Given the description of an element on the screen output the (x, y) to click on. 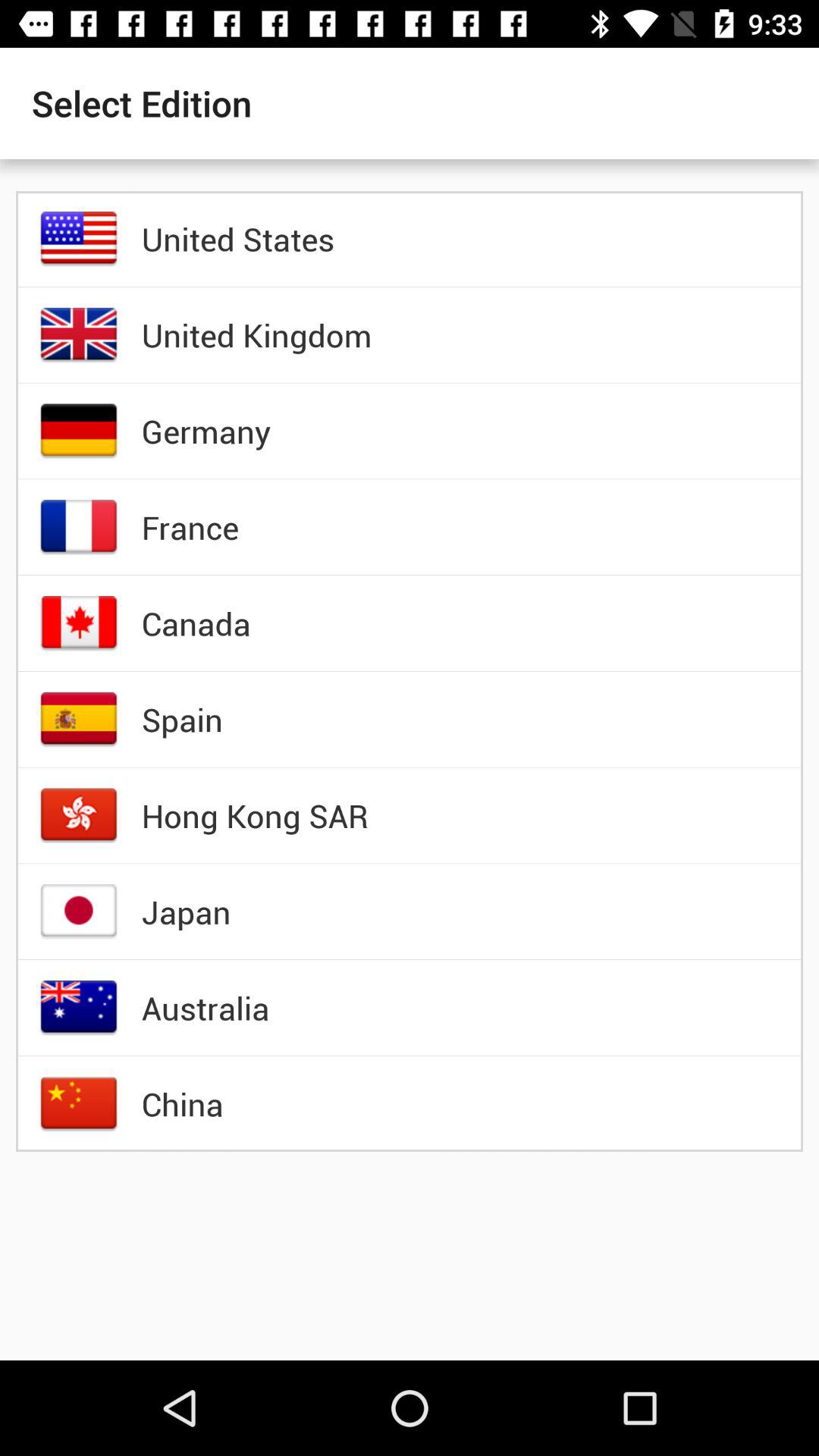
click the icon below the canada icon (181, 719)
